Given the description of an element on the screen output the (x, y) to click on. 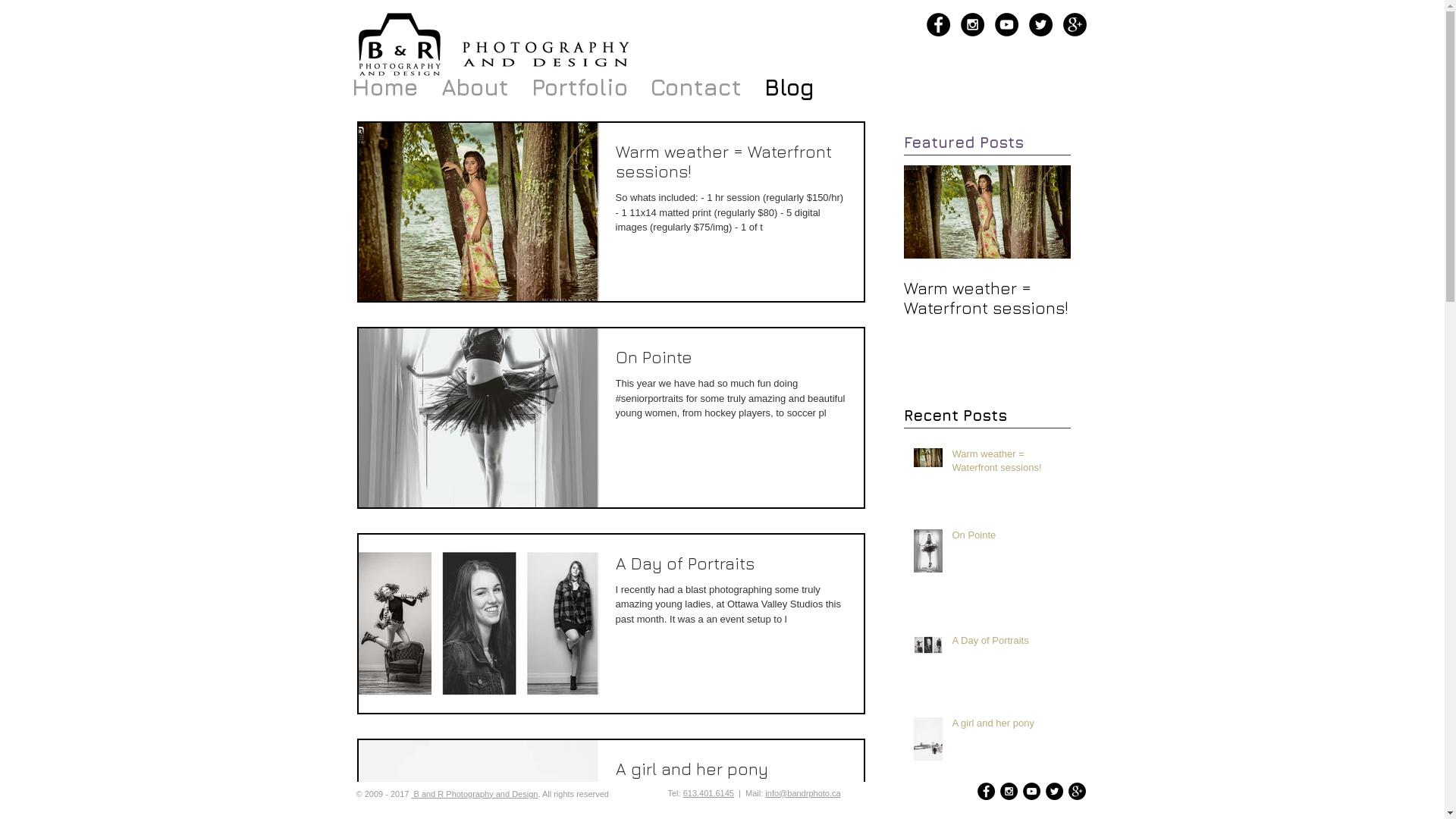
Portfolio Element type: text (579, 87)
About Element type: text (474, 87)
A Day of Portraits Element type: text (1006, 643)
613.401.6145 Element type: text (708, 792)
B and R Photography and Design Element type: hover (545, 56)
B and R Photography and Design Element type: hover (399, 44)
B and R Photography and Design Element type: text (474, 793)
Contact Element type: text (695, 87)
Warm weather = Waterfront sessions! Element type: text (730, 165)
Warm weather = Waterfront sessions! Element type: text (1006, 463)
Home Element type: text (384, 87)
On Pointe Element type: text (1006, 538)
A Day of Portraits Element type: text (730, 566)
Blog Element type: text (788, 87)
info@bandrphoto.ca Element type: text (802, 792)
A girl and her pony Element type: text (730, 772)
A girl and her pony Element type: text (1006, 726)
Warm weather = Waterfront sessions! Element type: text (986, 297)
On Pointe Element type: text (730, 361)
